Given the description of an element on the screen output the (x, y) to click on. 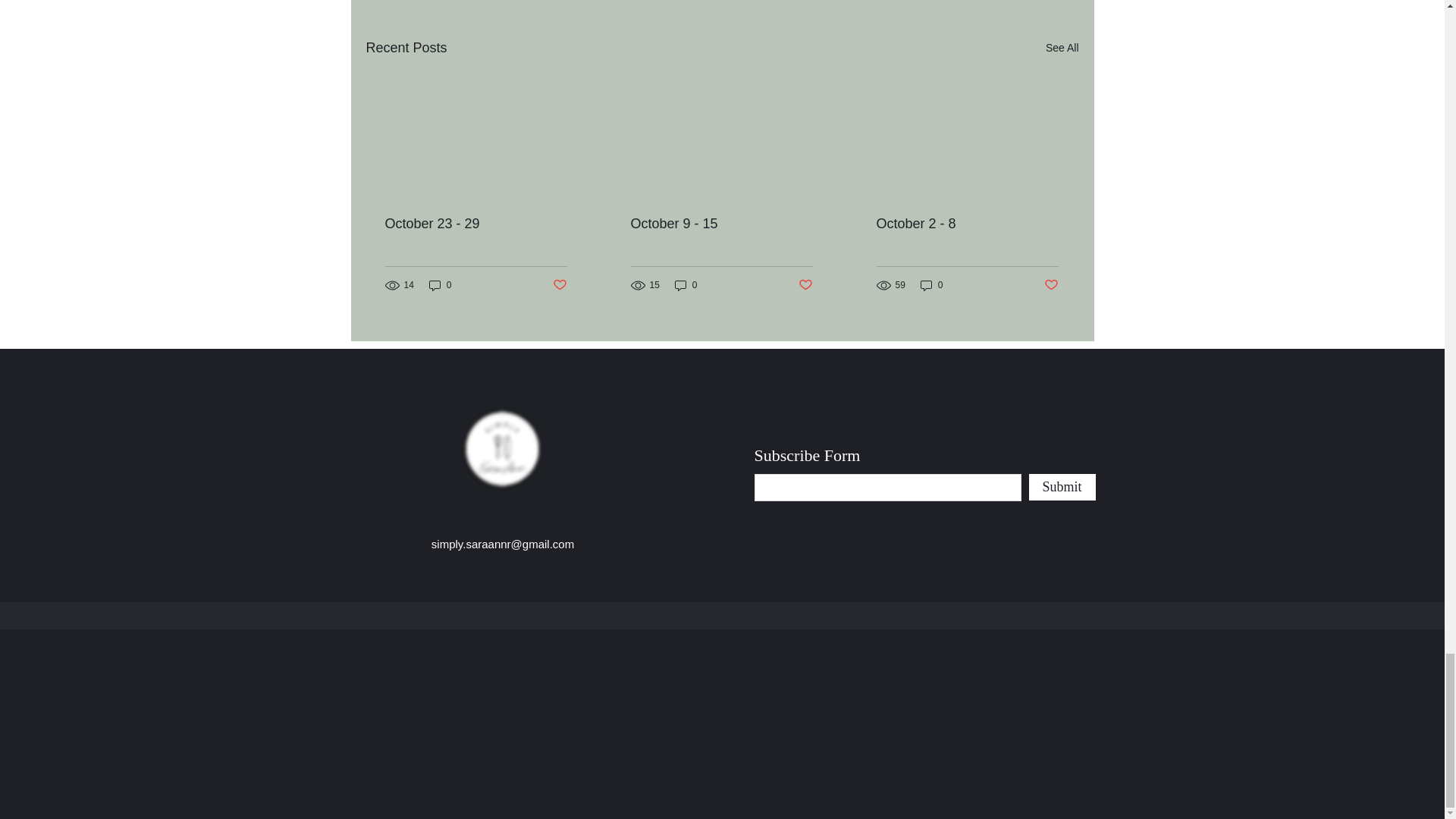
0 (931, 285)
0 (685, 285)
October 9 - 15 (721, 223)
Post not marked as liked (804, 285)
October 2 - 8 (967, 223)
Submit (1060, 487)
October 23 - 29 (476, 223)
See All (1061, 47)
Post not marked as liked (558, 285)
0 (440, 285)
